Given the description of an element on the screen output the (x, y) to click on. 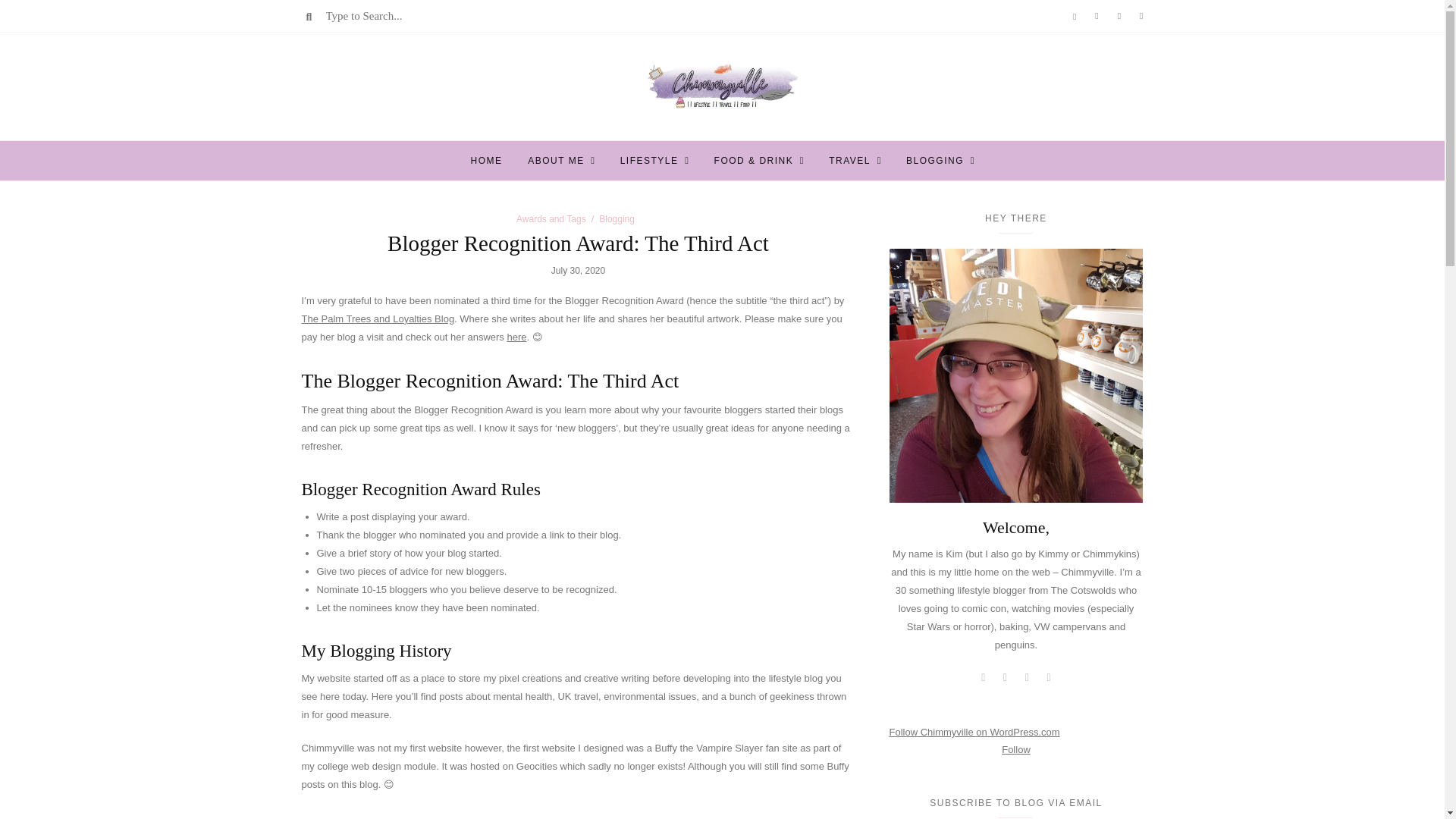
here (515, 337)
ABOUT ME (555, 160)
LIFESTYLE (649, 160)
TRAVEL (849, 160)
BLOGGING (934, 160)
Awards and Tags (551, 218)
The Palm Trees and Loyalties Blog (377, 318)
Blogging (616, 218)
